Given the description of an element on the screen output the (x, y) to click on. 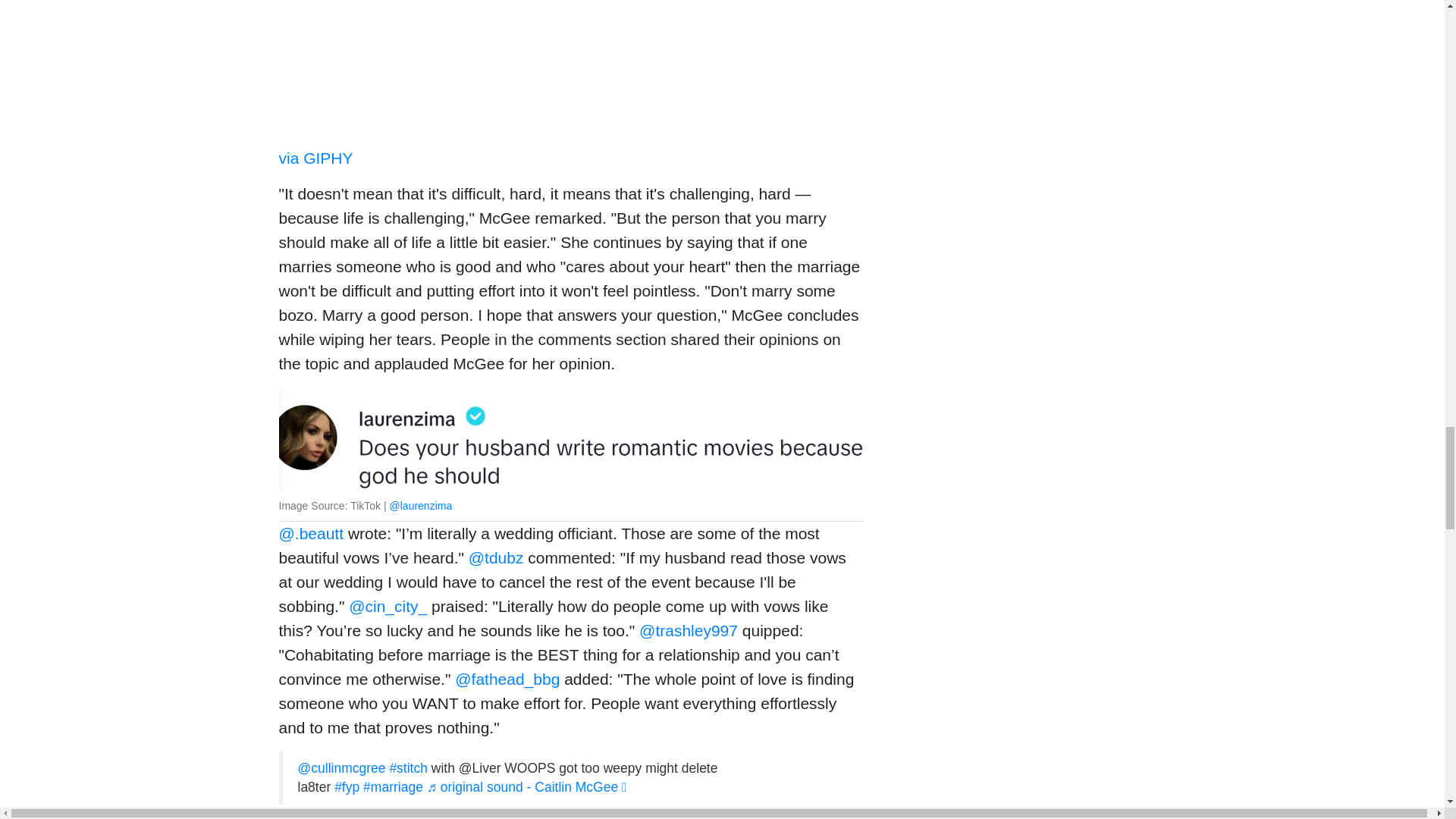
via GIPHY (316, 158)
fyp (346, 786)
marriage (392, 786)
stitch (408, 767)
